Given the description of an element on the screen output the (x, y) to click on. 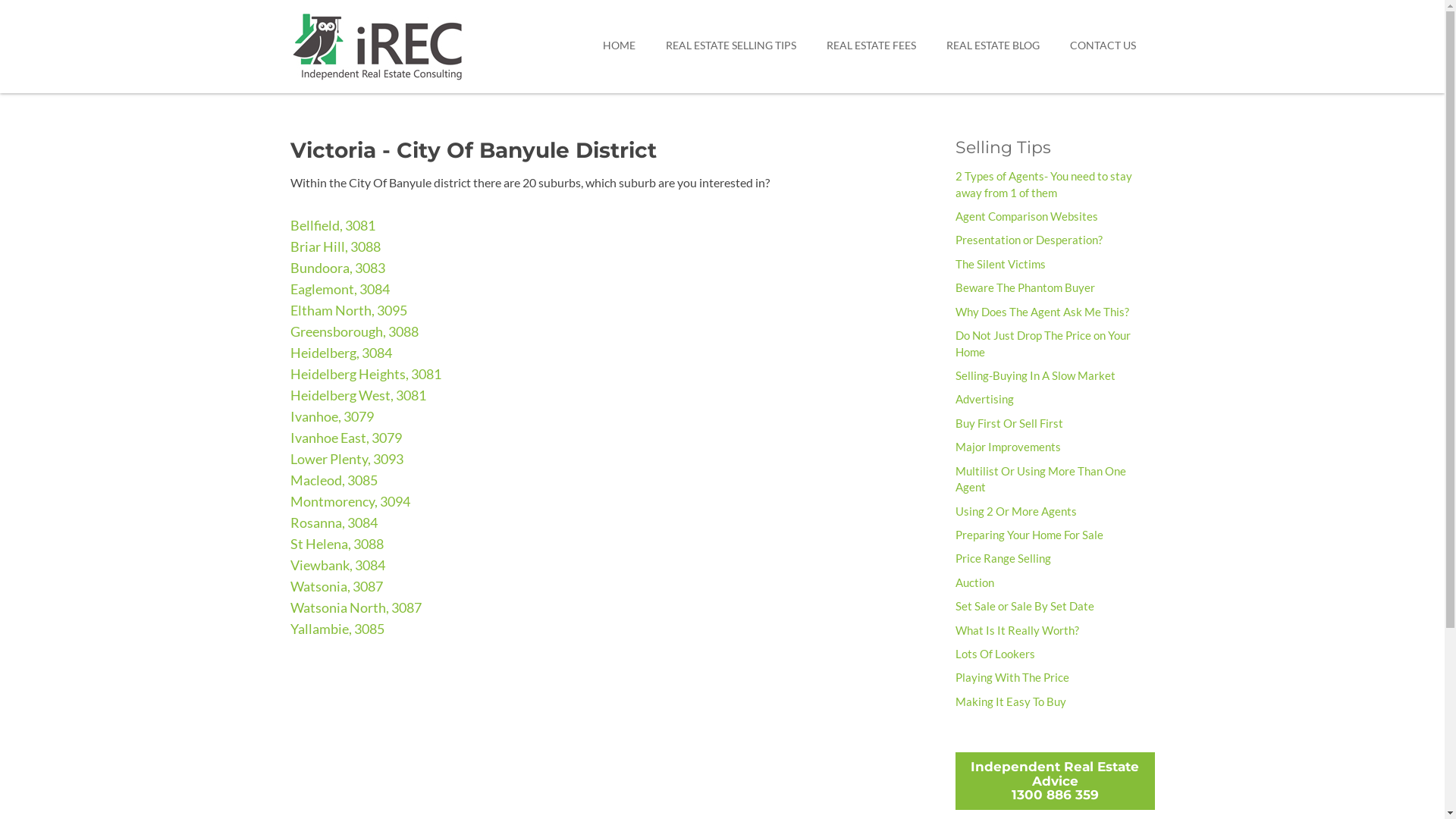
REAL ESTATE FEES Element type: text (870, 45)
Beware The Phantom Buyer Element type: text (1025, 287)
Selling-Buying In A Slow Market Element type: text (1035, 375)
Playing With The Price Element type: text (1012, 677)
Viewbank, 3084 Element type: text (336, 564)
Montmorency, 3094 Element type: text (349, 500)
Lower Plenty, 3093 Element type: text (345, 458)
REAL ESTATE SELLING TIPS Element type: text (729, 45)
Multilist Or Using More Than One Agent Element type: text (1040, 478)
Making It Easy To Buy Element type: text (1010, 701)
Yallambie, 3085 Element type: text (336, 628)
Eltham North, 3095 Element type: text (347, 309)
St Helena, 3088 Element type: text (335, 543)
Auction Element type: text (974, 582)
Heidelberg Heights, 3081 Element type: text (364, 373)
Presentation or Desperation? Element type: text (1028, 239)
REAL ESTATE BLOG Element type: text (992, 45)
Agent Comparison Websites Element type: text (1026, 215)
Set Sale or Sale By Set Date Element type: text (1024, 605)
Bellfield, 3081 Element type: text (331, 224)
Ivanhoe East, 3079 Element type: text (345, 437)
Bundoora, 3083 Element type: text (336, 267)
Watsonia North, 3087 Element type: text (354, 607)
Price Range Selling Element type: text (1003, 557)
2 Types of Agents- You need to stay away from 1 of them Element type: text (1043, 183)
Why Does The Agent Ask Me This? Element type: text (1042, 311)
Heidelberg, 3084 Element type: text (340, 352)
Ivanhoe, 3079 Element type: text (331, 415)
Greensborough, 3088 Element type: text (353, 331)
Major Improvements Element type: text (1007, 446)
Do Not Just Drop The Price on Your Home Element type: text (1042, 342)
What Is It Really Worth? Element type: text (1017, 630)
Briar Hill, 3088 Element type: text (334, 246)
CONTACT US Element type: text (1102, 45)
Advertising Element type: text (984, 398)
Preparing Your Home For Sale Element type: text (1029, 534)
Using 2 Or More Agents Element type: text (1015, 510)
Heidelberg West, 3081 Element type: text (357, 394)
Eaglemont, 3084 Element type: text (339, 288)
HOME Element type: text (618, 45)
Watsonia, 3087 Element type: text (335, 585)
The Silent Victims Element type: text (1000, 263)
Lots Of Lookers Element type: text (995, 653)
Independent Real Estate Consulting Element type: hover (408, 44)
Buy First Or Sell First Element type: text (1009, 422)
Rosanna, 3084 Element type: text (332, 522)
Macleod, 3085 Element type: text (332, 479)
